Given the description of an element on the screen output the (x, y) to click on. 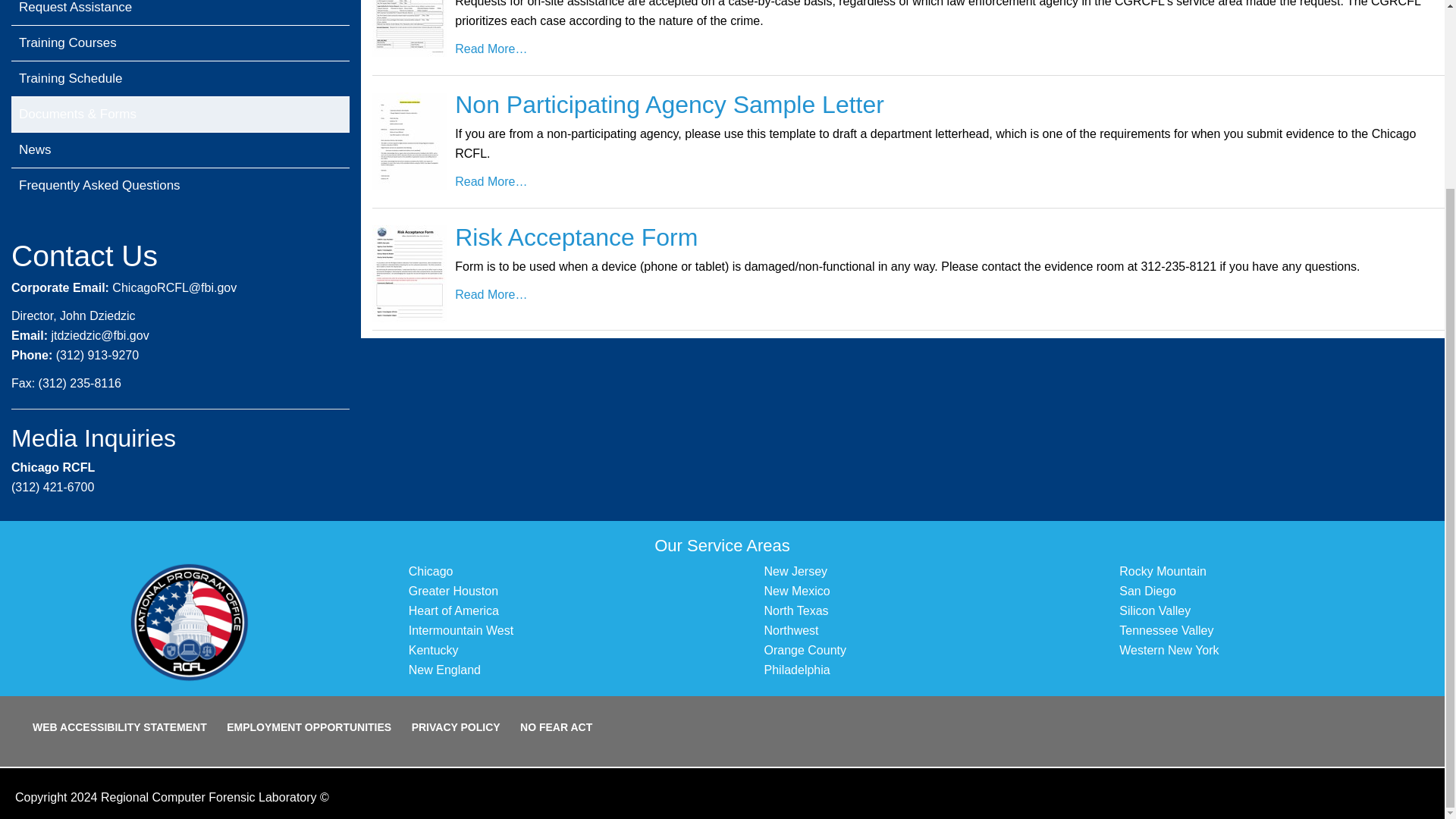
News (180, 150)
Training Schedule (180, 79)
Frequently Asked Questions (180, 185)
New Jersey (796, 571)
Request Assistance (180, 12)
New England (444, 669)
Greater Houston (453, 590)
Heart of America (454, 610)
Risk Acceptance Form (575, 236)
Kentucky (433, 649)
Training Schedule (180, 79)
News (180, 150)
Intermountain West (461, 630)
Training Courses (180, 43)
Frequently Asked Questions (180, 185)
